Given the description of an element on the screen output the (x, y) to click on. 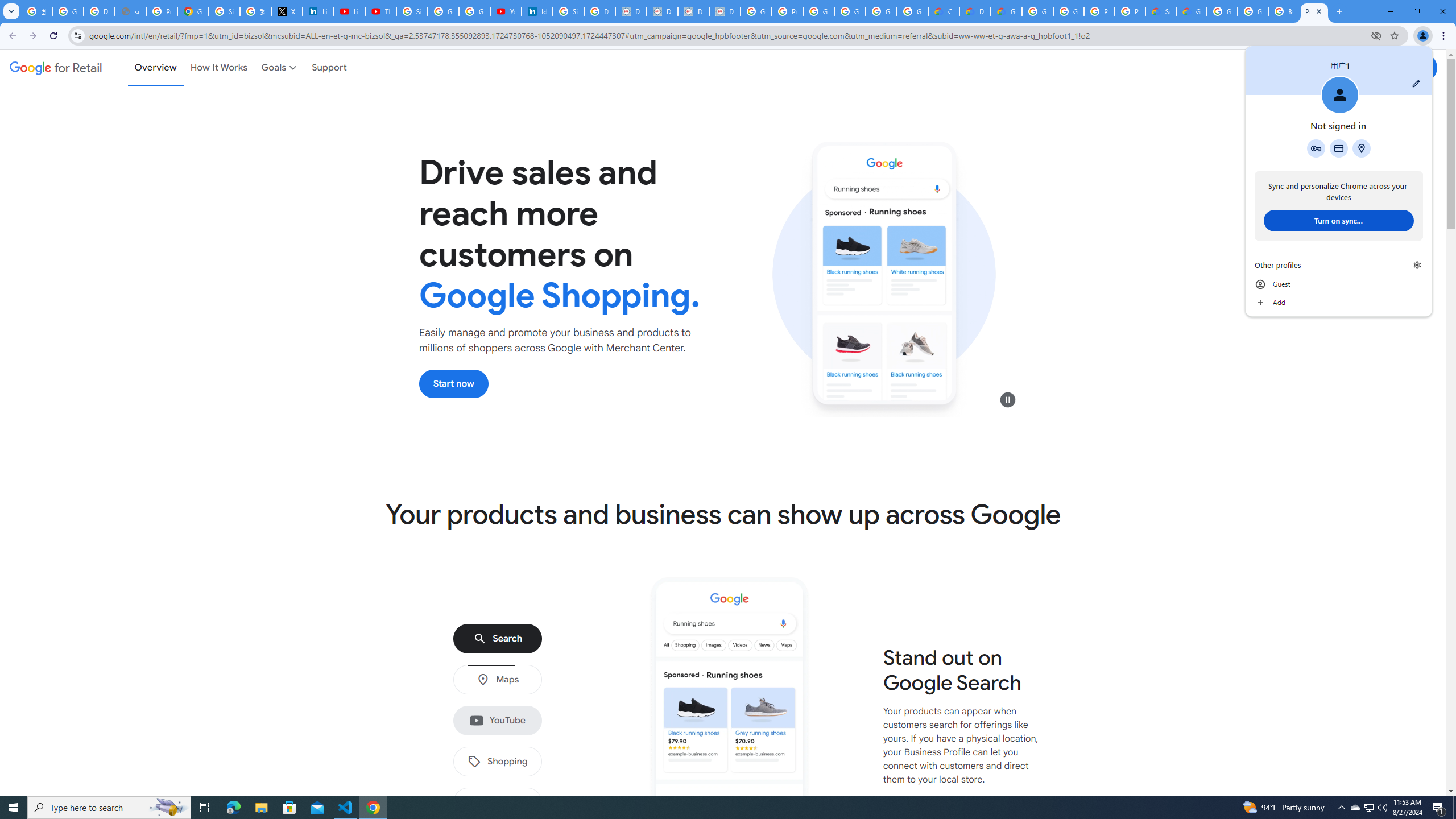
User Promoted Notification Area (1368, 807)
YouTube (496, 720)
Microsoft Edge (233, 807)
File Explorer (261, 807)
Addresses and more (1361, 148)
Action Center, 1 new notification (1439, 807)
Google Cloud Platform (1252, 11)
Start (13, 807)
